Given the description of an element on the screen output the (x, y) to click on. 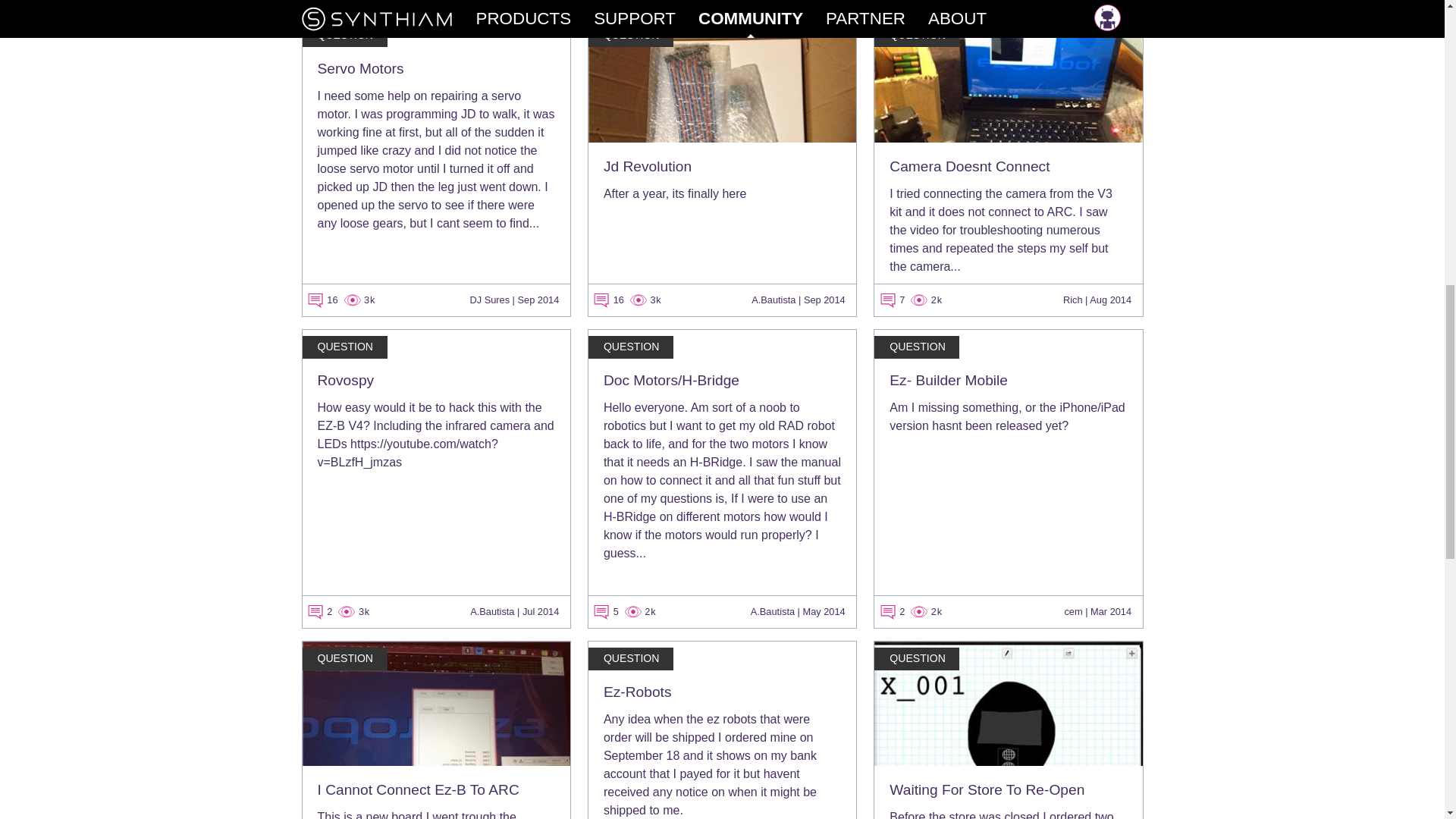
2014-08-21 00:53 UTC (1110, 299)
2014-05-21 18:30 UTC (823, 611)
2014-03-14 03:10 UTC (1110, 611)
2014-09-20 12:34 UTC (824, 299)
2014-09-22 08:26 UTC (537, 299)
2014-07-26 12:22 UTC (540, 611)
